Given the description of an element on the screen output the (x, y) to click on. 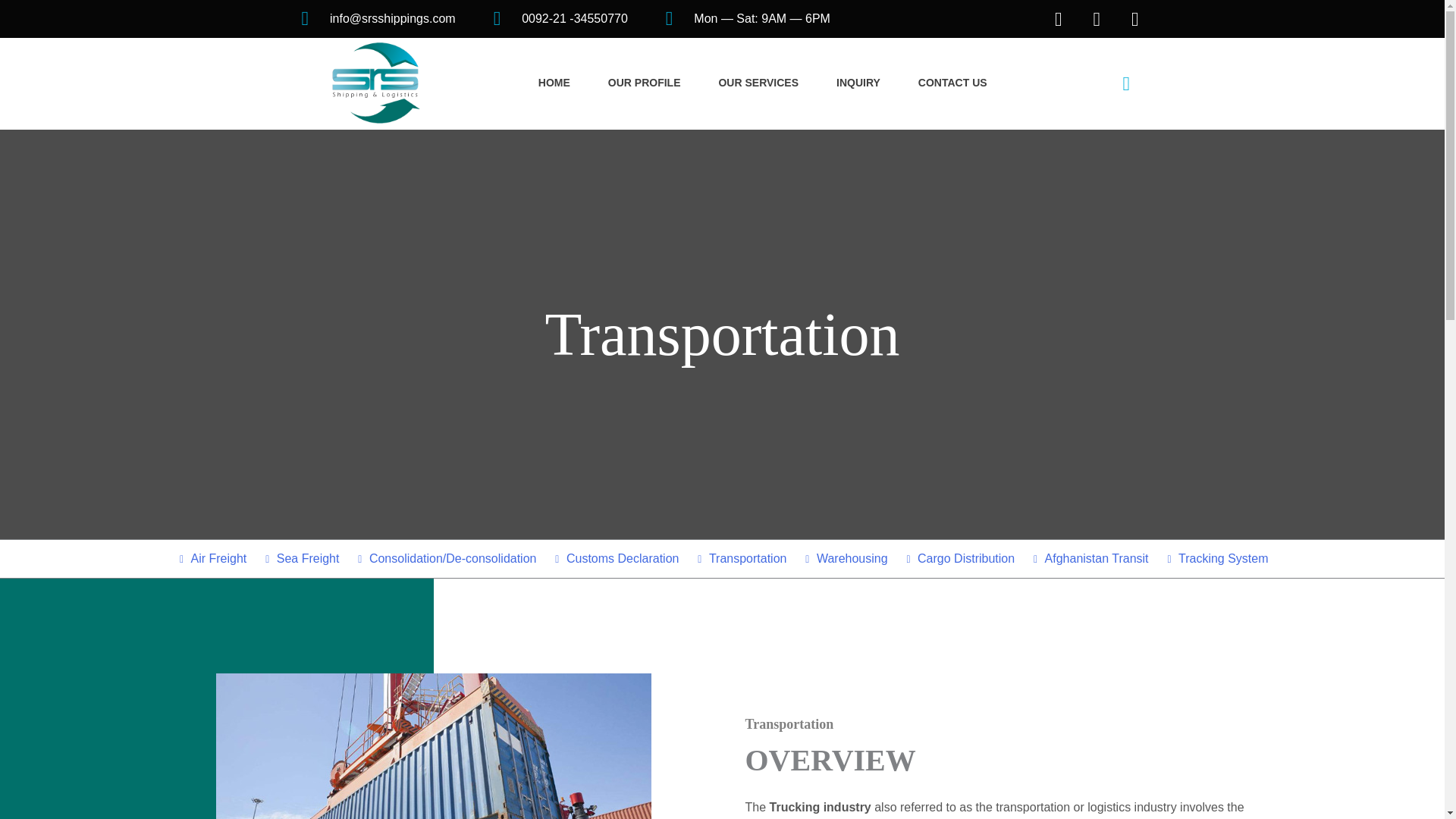
HOME (554, 83)
0092-21 -34550770 (560, 18)
OUR SERVICES (757, 83)
Customs Declaration (615, 558)
INQUIRY (857, 83)
OUR PROFILE (644, 83)
Cargo Distribution (958, 558)
Transportation (740, 558)
Tracking System (1215, 558)
CONTACT US (952, 83)
